Given the description of an element on the screen output the (x, y) to click on. 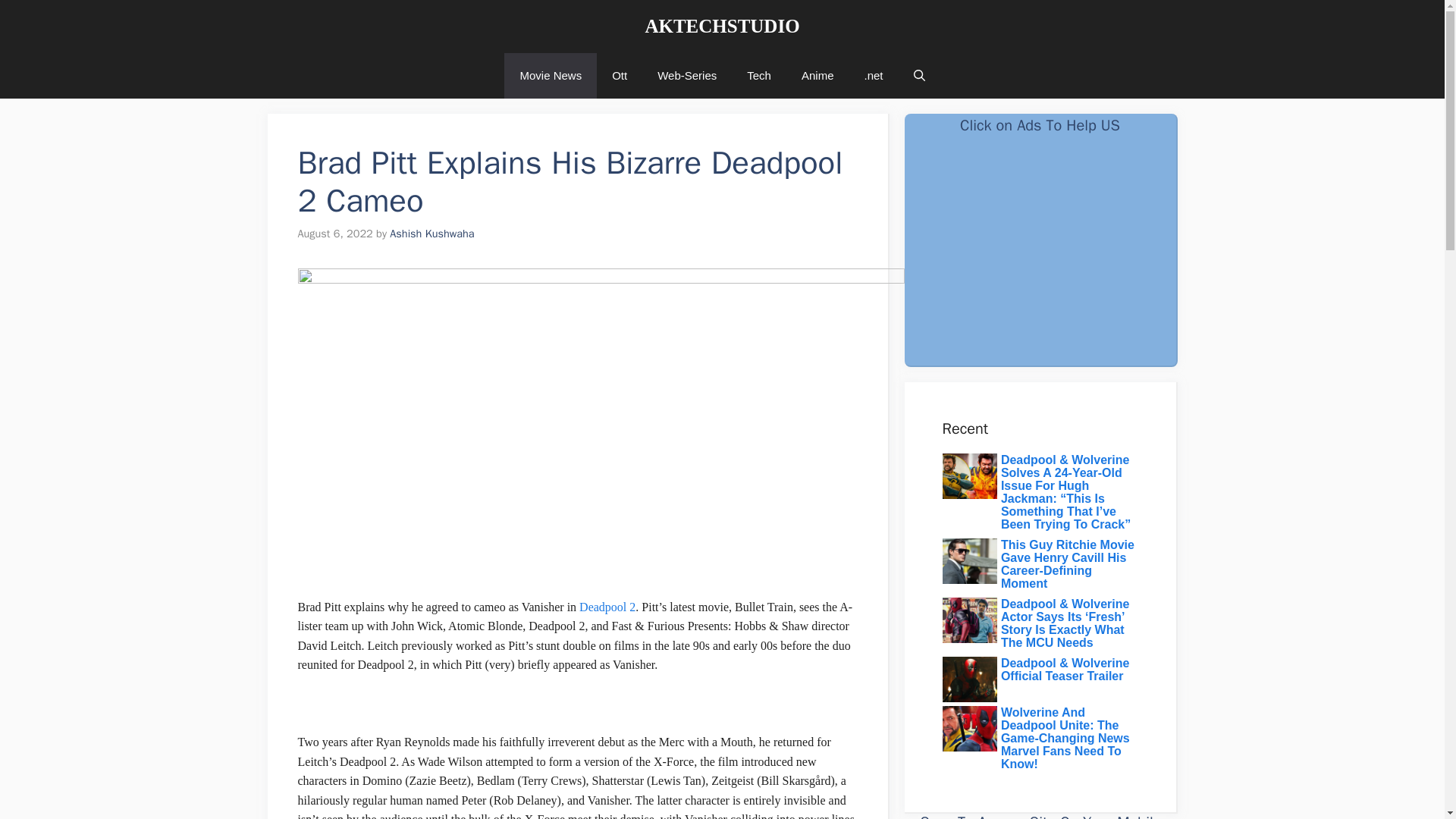
Deadpool 2 (606, 606)
Movie News (549, 75)
Web-Series (687, 75)
AKTECHSTUDIO (722, 25)
Tech (759, 75)
View all posts by Ashish Kushwaha (432, 233)
Ott (619, 75)
Ashish Kushwaha (432, 233)
Anime (817, 75)
Advertisement (1039, 255)
.net (873, 75)
